Given the description of an element on the screen output the (x, y) to click on. 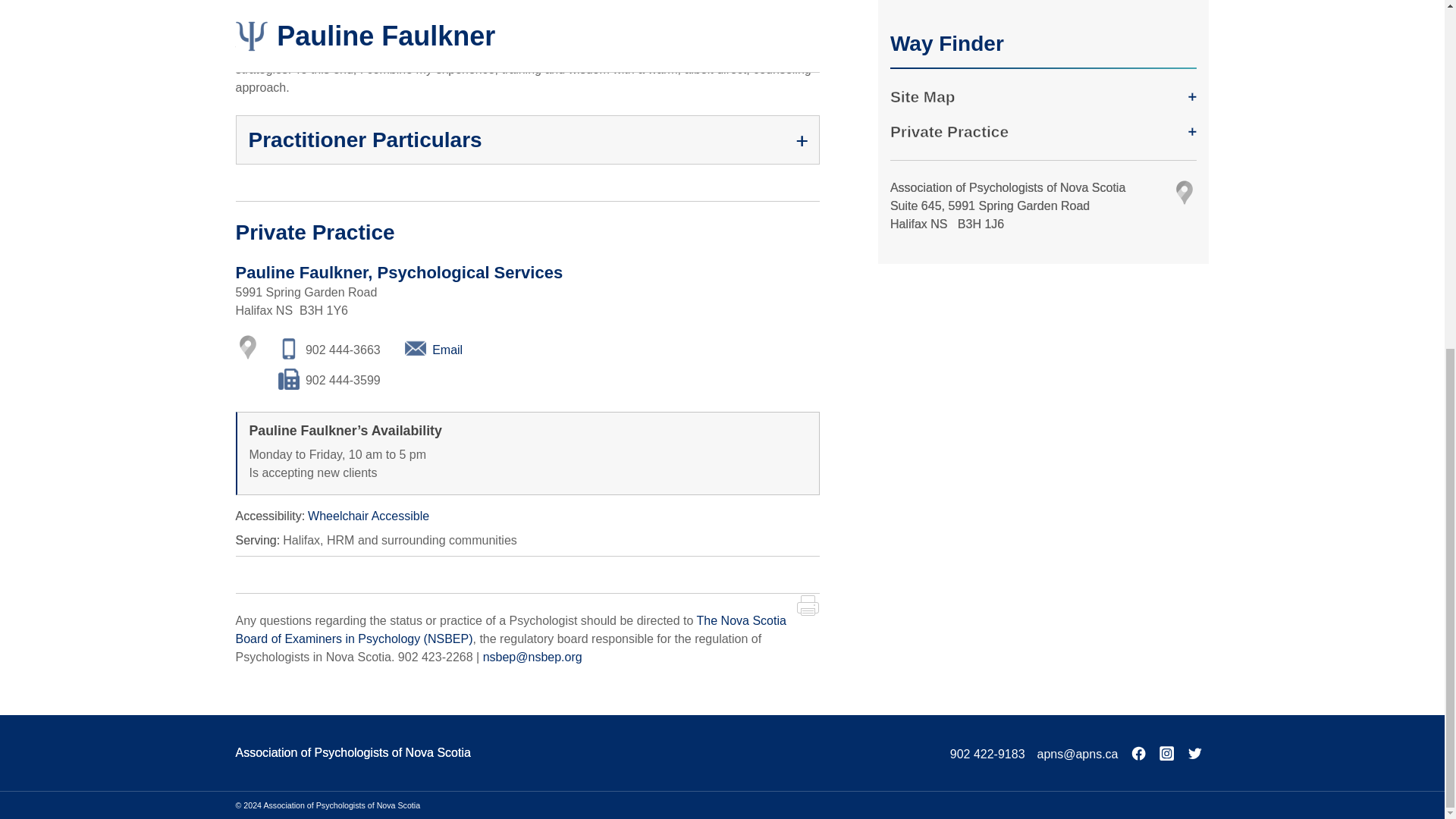
Gottman (645, 1)
Sue Johnson (710, 1)
View private practice location on Google Maps (246, 346)
Wheelchair Accessible (368, 515)
902 423-2268 (435, 656)
Print (806, 604)
902 444-3663 (329, 349)
902 422-9183 (987, 753)
Email (433, 349)
Telephone (329, 349)
